Given the description of an element on the screen output the (x, y) to click on. 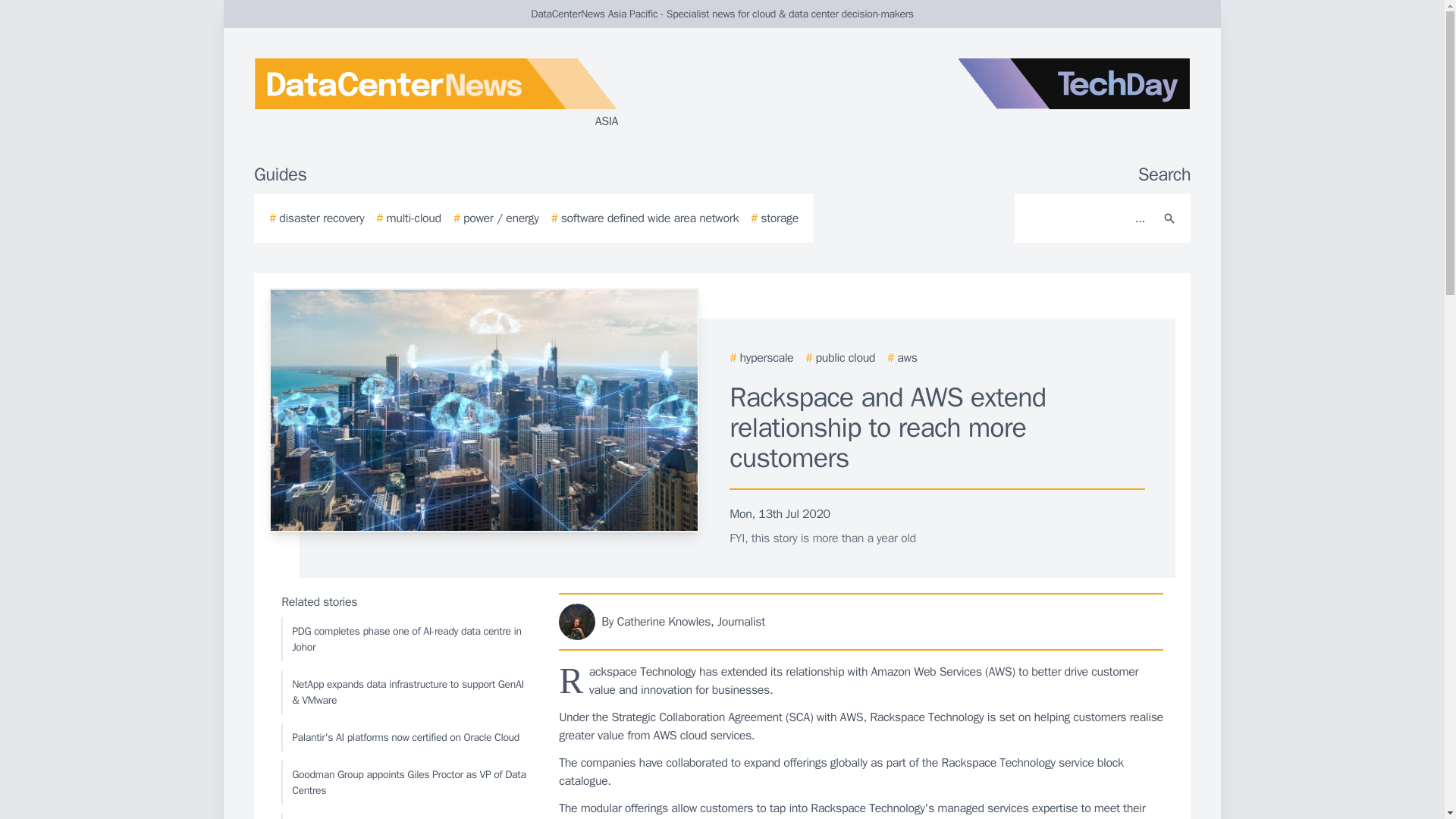
Goodman Group appoints Giles Proctor as VP of Data Centres (406, 782)
By Catherine Knowles, Journalist (861, 621)
Palantir's AI platforms now certified on Oracle Cloud (406, 737)
ASIA (435, 94)
PDG completes phase one of AI-ready data centre in Johor (406, 638)
Firetrace report warns of fire risk in renewable projects (406, 816)
